Given the description of an element on the screen output the (x, y) to click on. 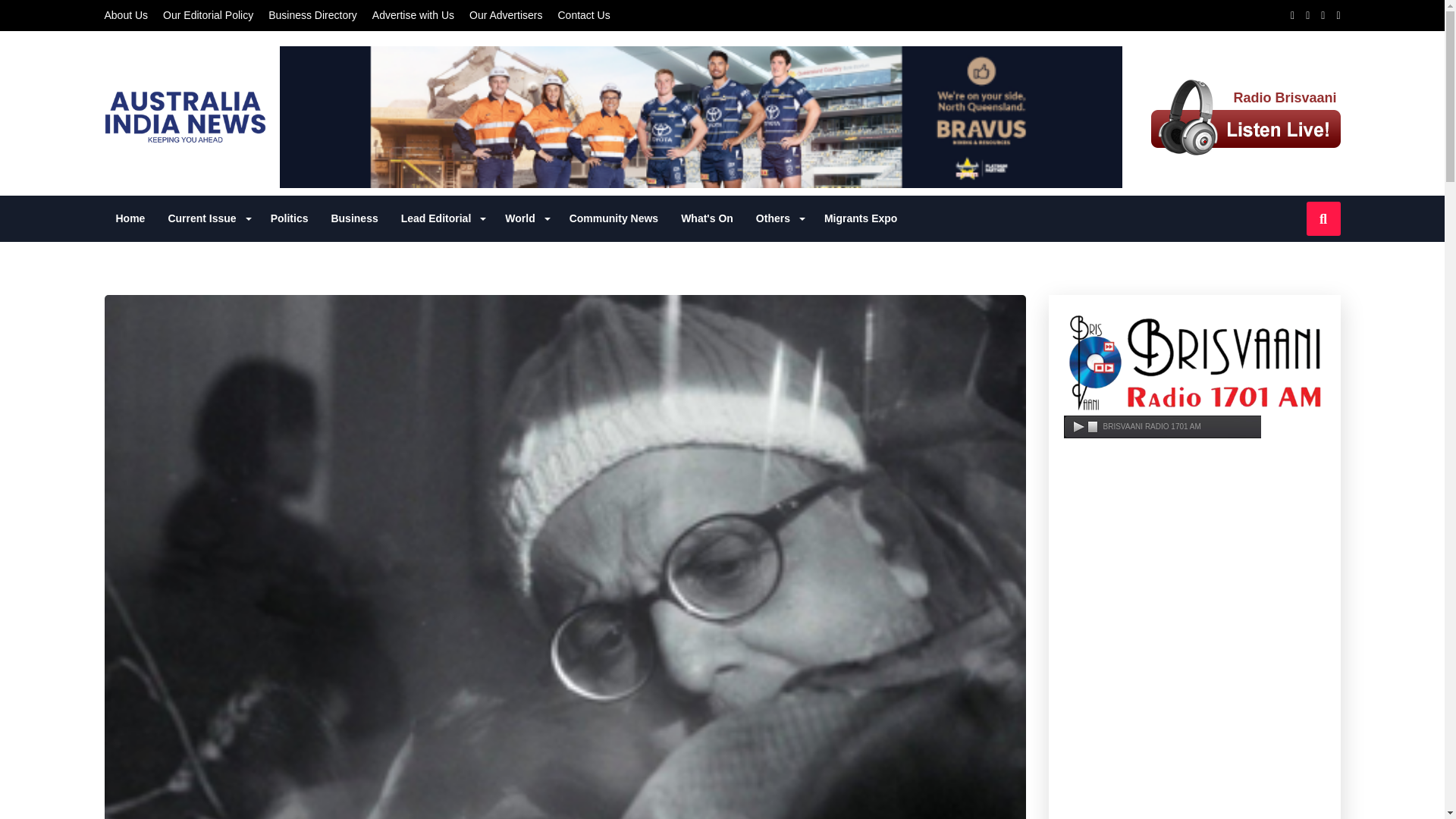
bravus-banner-1 (700, 116)
Current Issue (207, 218)
YouTube video player (1193, 522)
Community News (613, 218)
Politics (289, 218)
Advertise with Us (413, 15)
Migrants Expo (860, 218)
About Us (126, 15)
Our Advertisers (504, 15)
YouTube video player (1193, 652)
YouTube video player (1193, 771)
Others (778, 218)
What's On (706, 218)
Business Directory (311, 15)
Lead Editorial (442, 218)
